Given the description of an element on the screen output the (x, y) to click on. 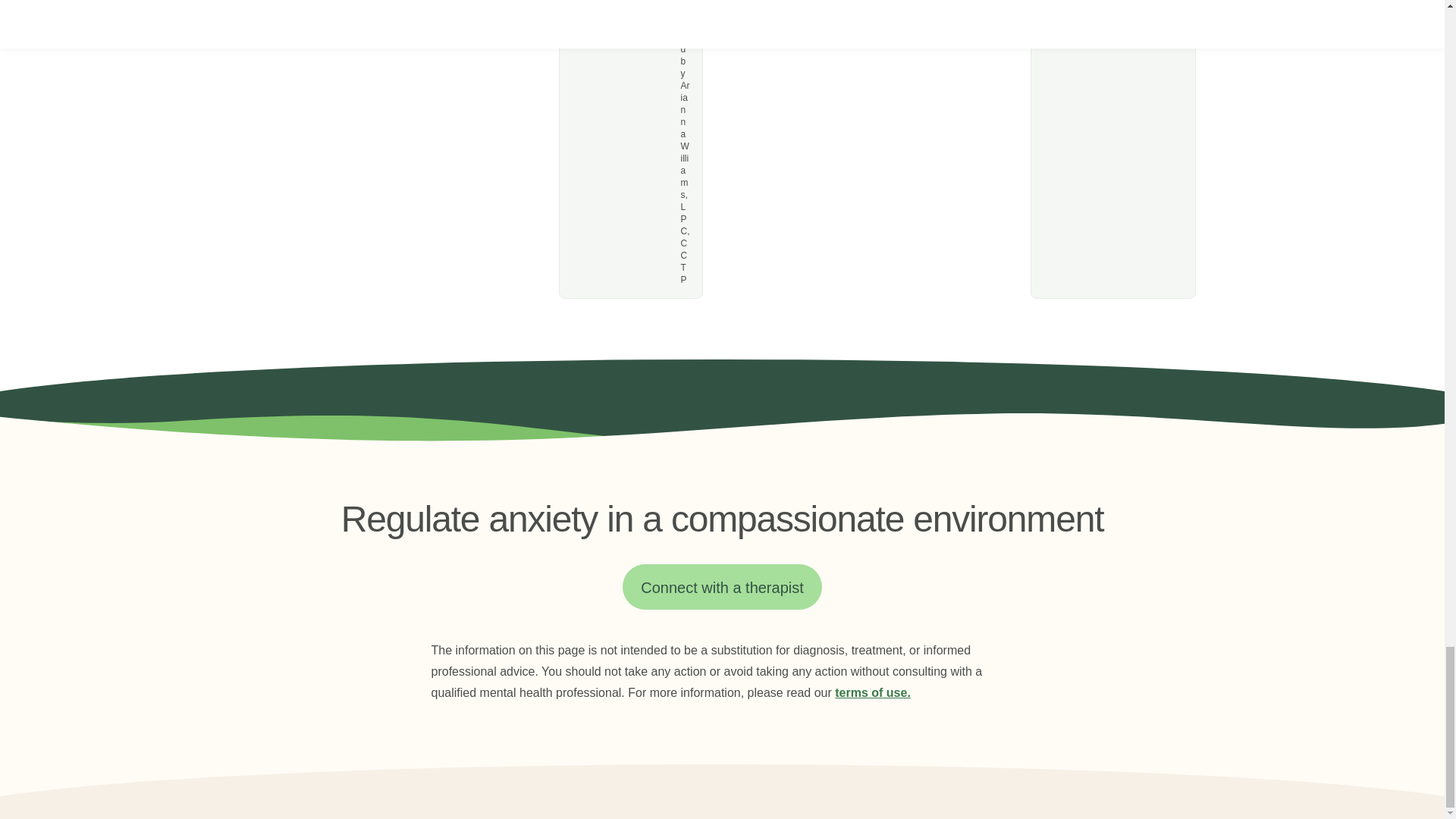
Connect with a therapist (722, 586)
terms of use. (872, 692)
